Given the description of an element on the screen output the (x, y) to click on. 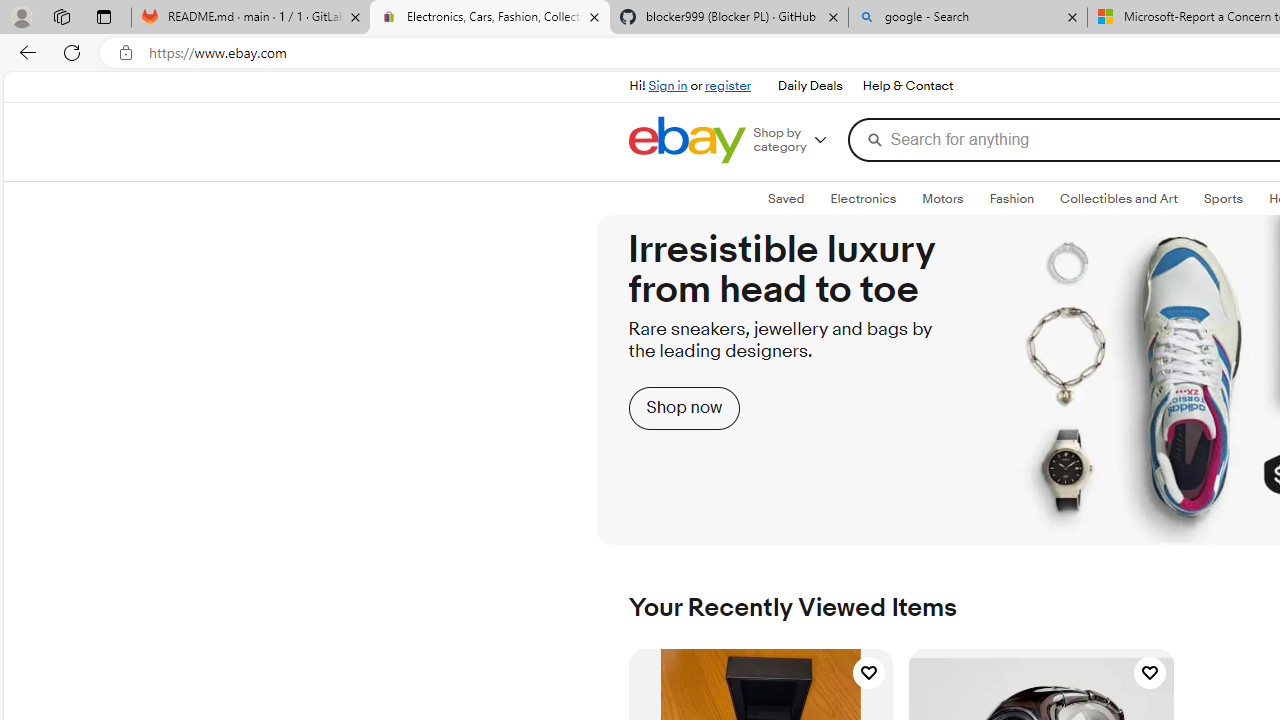
SportsExpand: Sports (1223, 199)
Saved (786, 198)
ElectronicsExpand: Electronics (863, 199)
register (728, 85)
Daily Deals (809, 85)
Daily Deals (810, 86)
Electronics (863, 198)
